Given the description of an element on the screen output the (x, y) to click on. 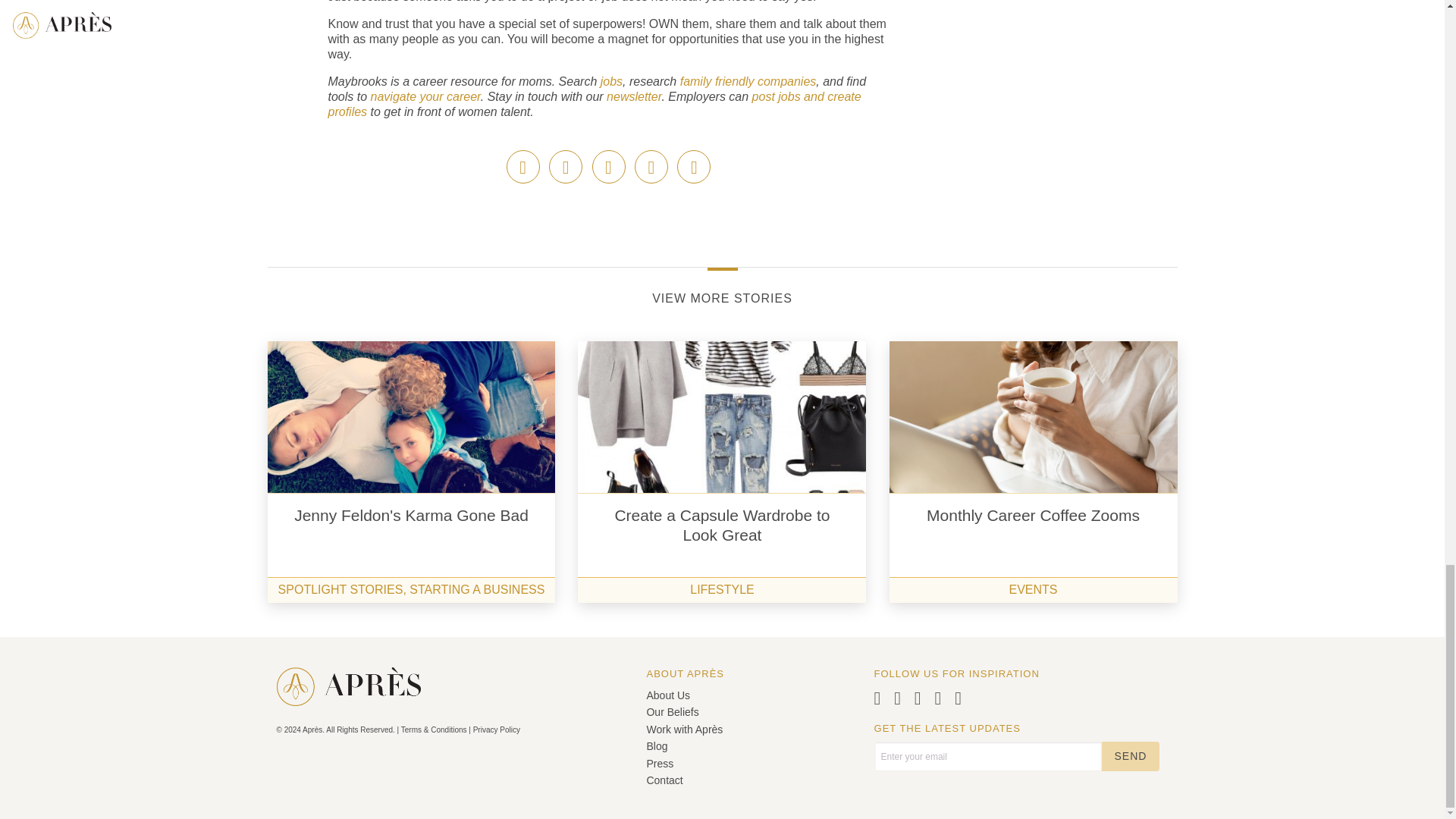
newsletter (634, 96)
family friendly companies (746, 81)
jobs (611, 81)
navigate your career (425, 96)
post jobs and create profiles (593, 103)
